Given the description of an element on the screen output the (x, y) to click on. 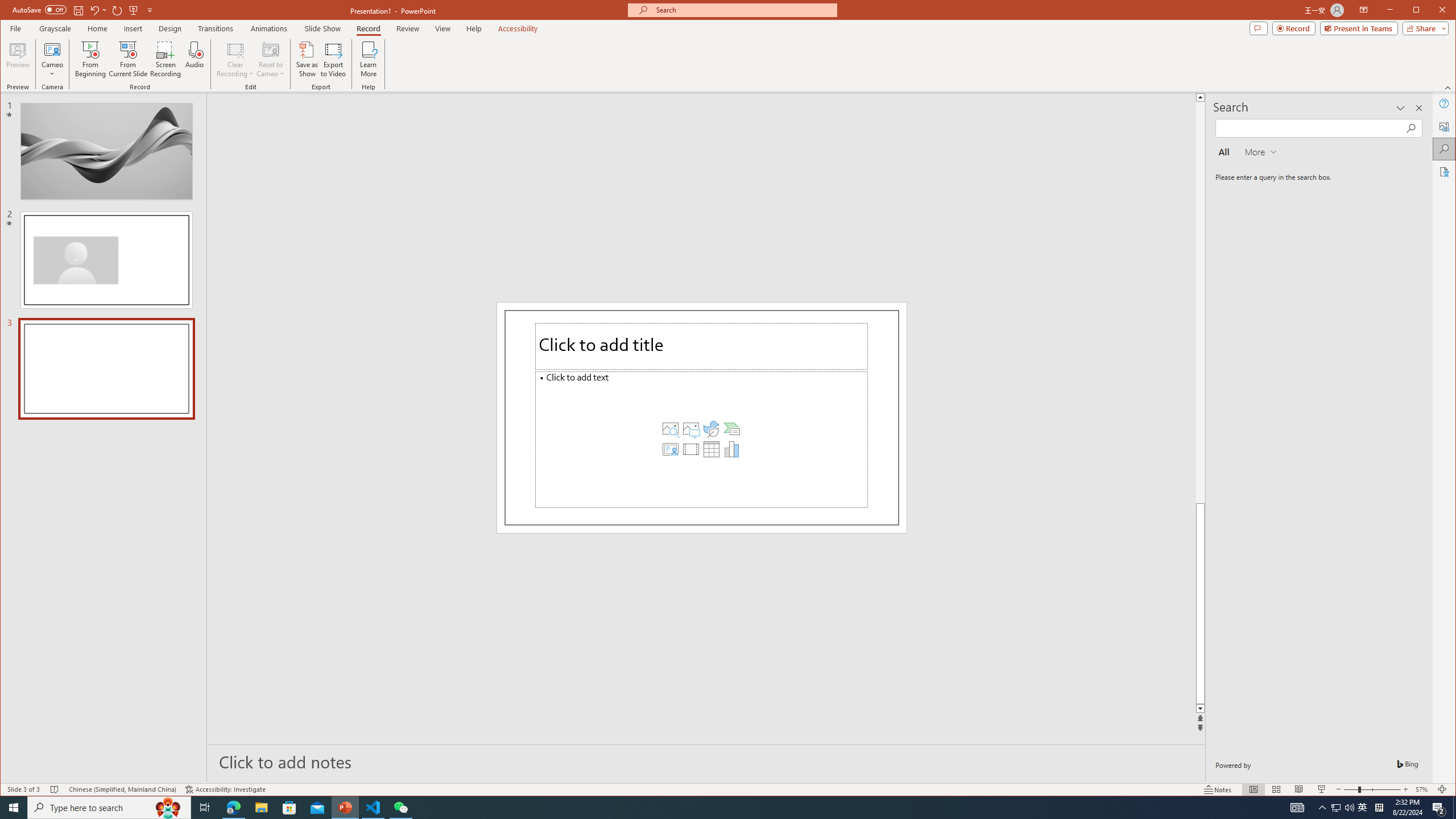
Zoom 57% (1422, 789)
Insert Chart (731, 449)
